Given the description of an element on the screen output the (x, y) to click on. 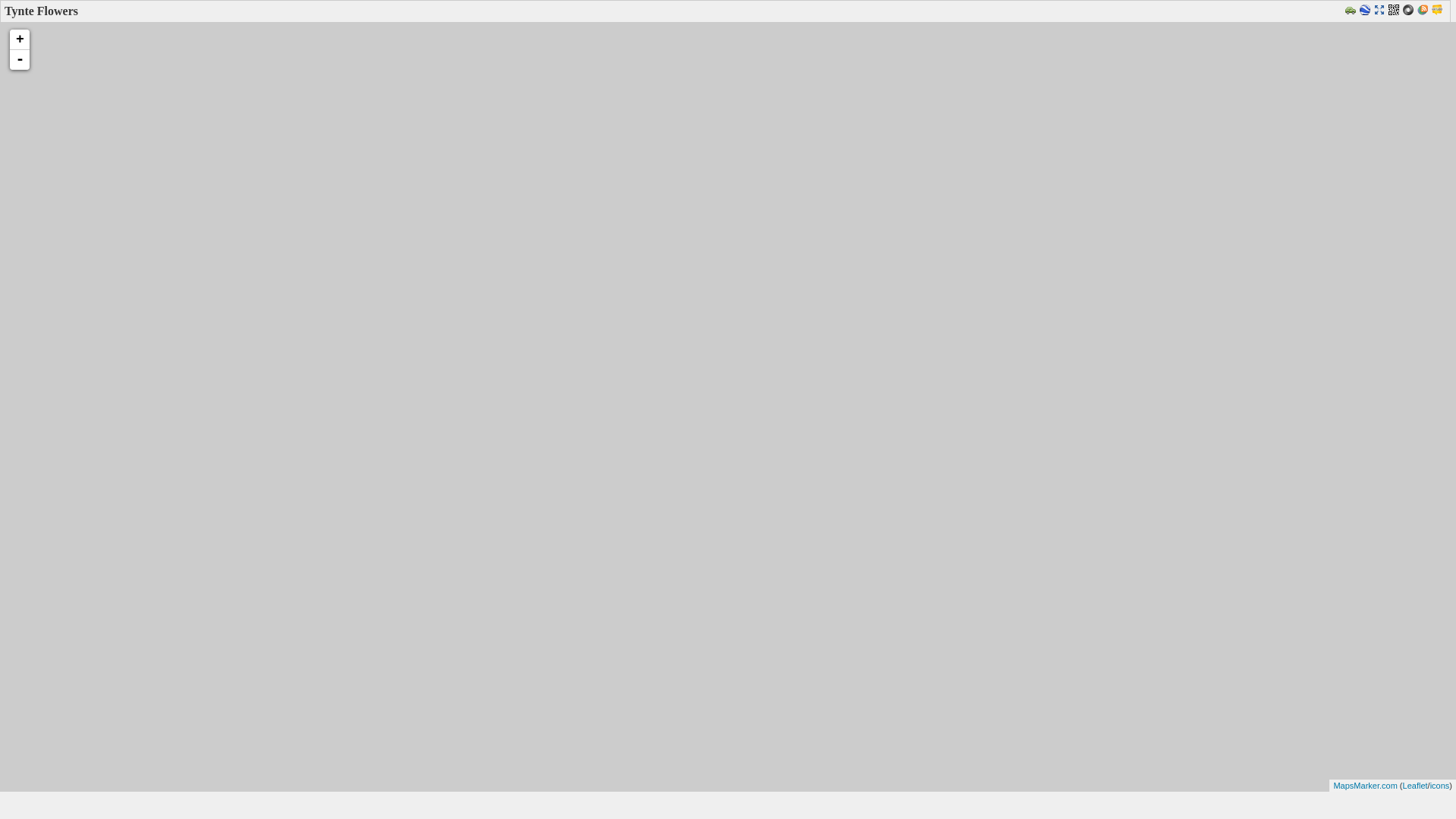
Open standalone map in fullscreen mode Element type: hover (1381, 10)
Export as GeoJSON Element type: hover (1409, 10)
+ Element type: text (19, 39)
Export as GeoRSS Element type: hover (1424, 10)
Create QR code image for standalone map in fullscreen mode Element type: hover (1395, 10)
Leaflet Element type: text (1414, 785)
MapsMarker.com Element type: text (1364, 785)
icons Element type: text (1439, 785)
Get directions Element type: hover (1352, 10)
Export as KML for Google Earth/Google Maps Element type: hover (1366, 10)
Export as ARML for Wikitude Augmented-Reality browser Element type: hover (1438, 10)
- Element type: text (19, 59)
